Given the description of an element on the screen output the (x, y) to click on. 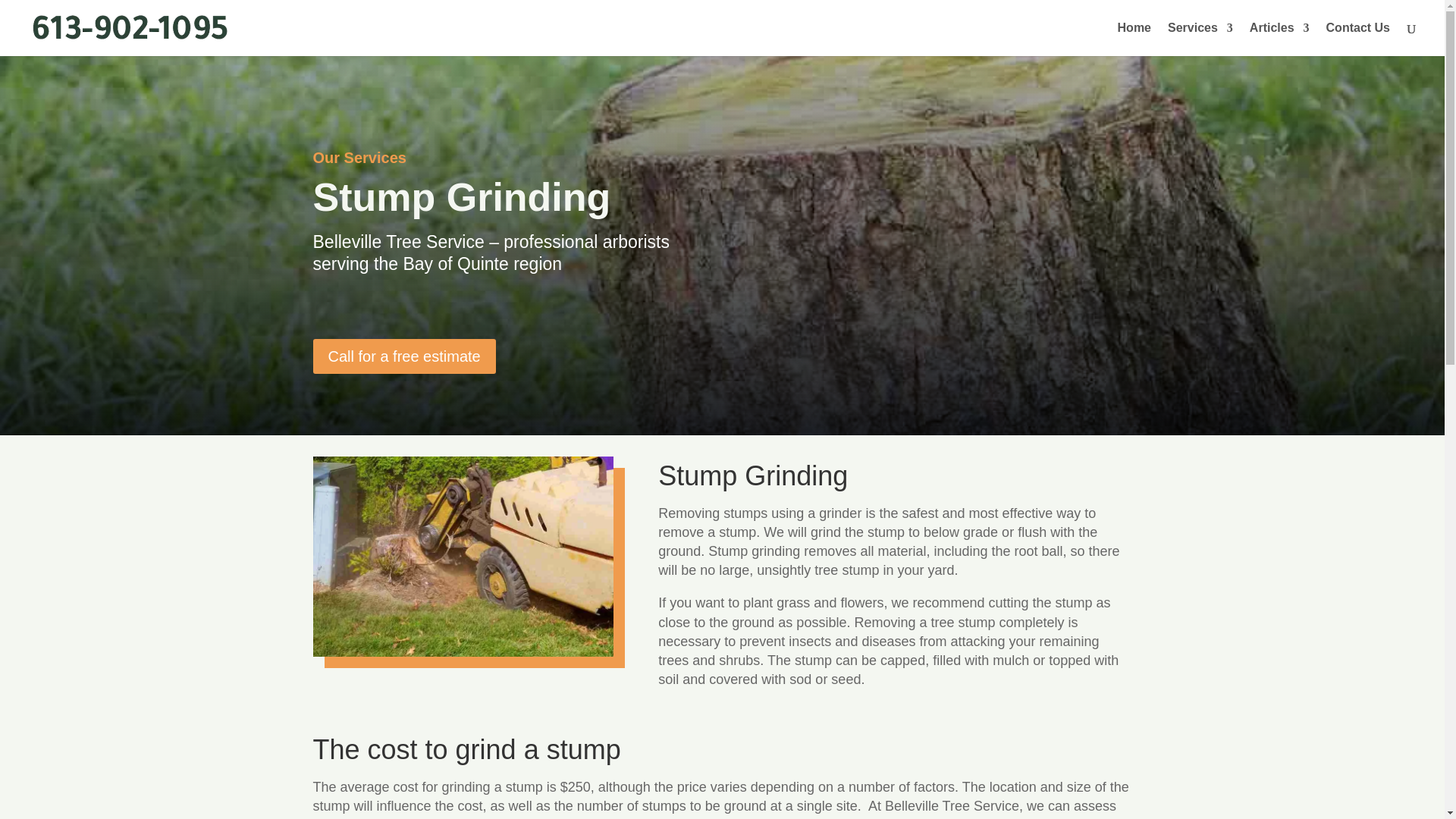
Call for a free estimate (404, 356)
Contact Us (1358, 39)
Articles (1278, 39)
Services (1200, 39)
Belleville Tree Service Stump grinder removing stump (462, 651)
Home (1134, 39)
Belleville Tree Service Stump grinder removing stump (462, 556)
